Given the description of an element on the screen output the (x, y) to click on. 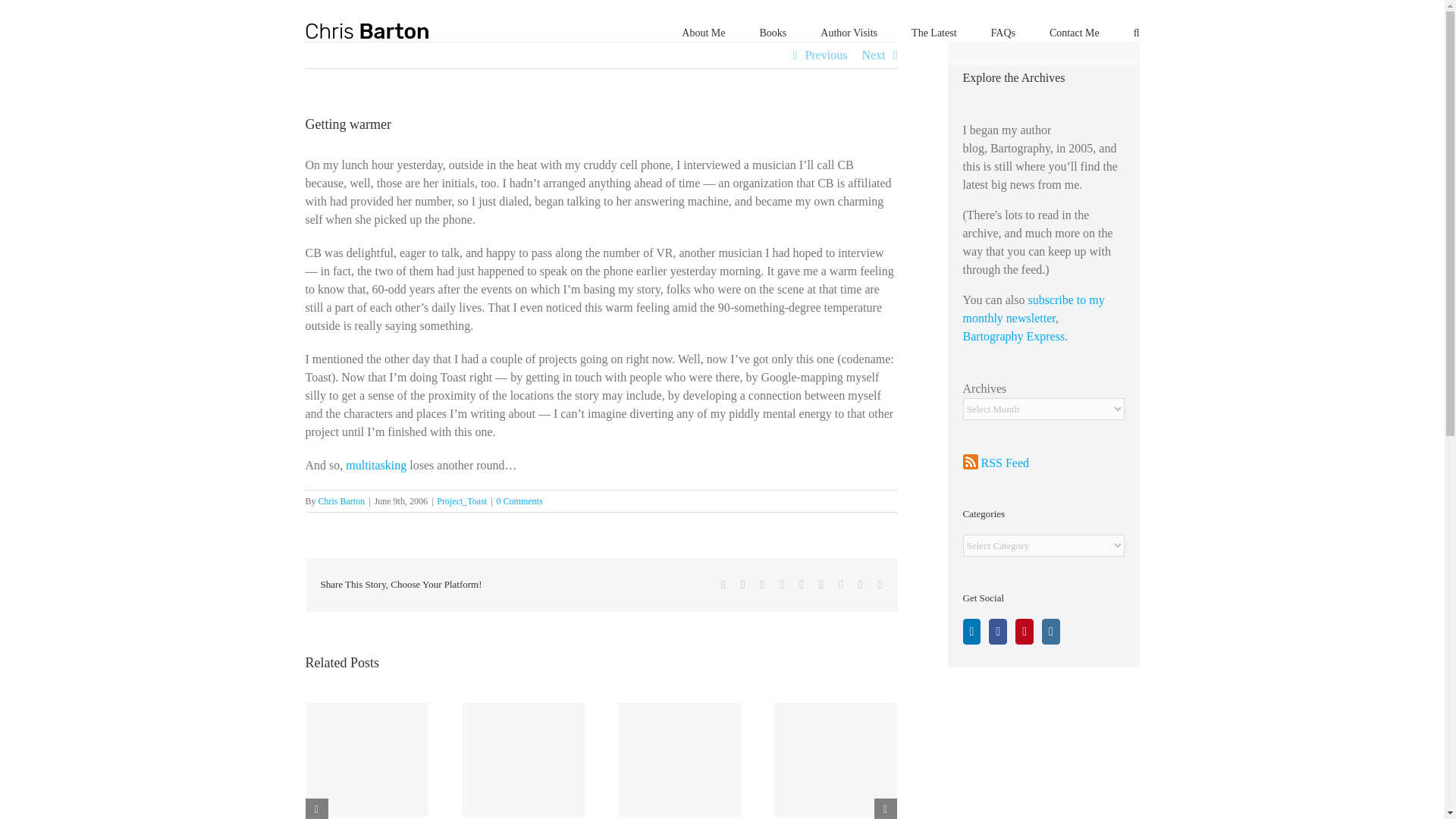
About Me (703, 31)
Author Visits (849, 31)
Books (773, 31)
Search (1137, 31)
The Latest (933, 31)
Posts by Chris Barton (341, 501)
FAQs (1002, 31)
Contact Me (1074, 31)
